Given the description of an element on the screen output the (x, y) to click on. 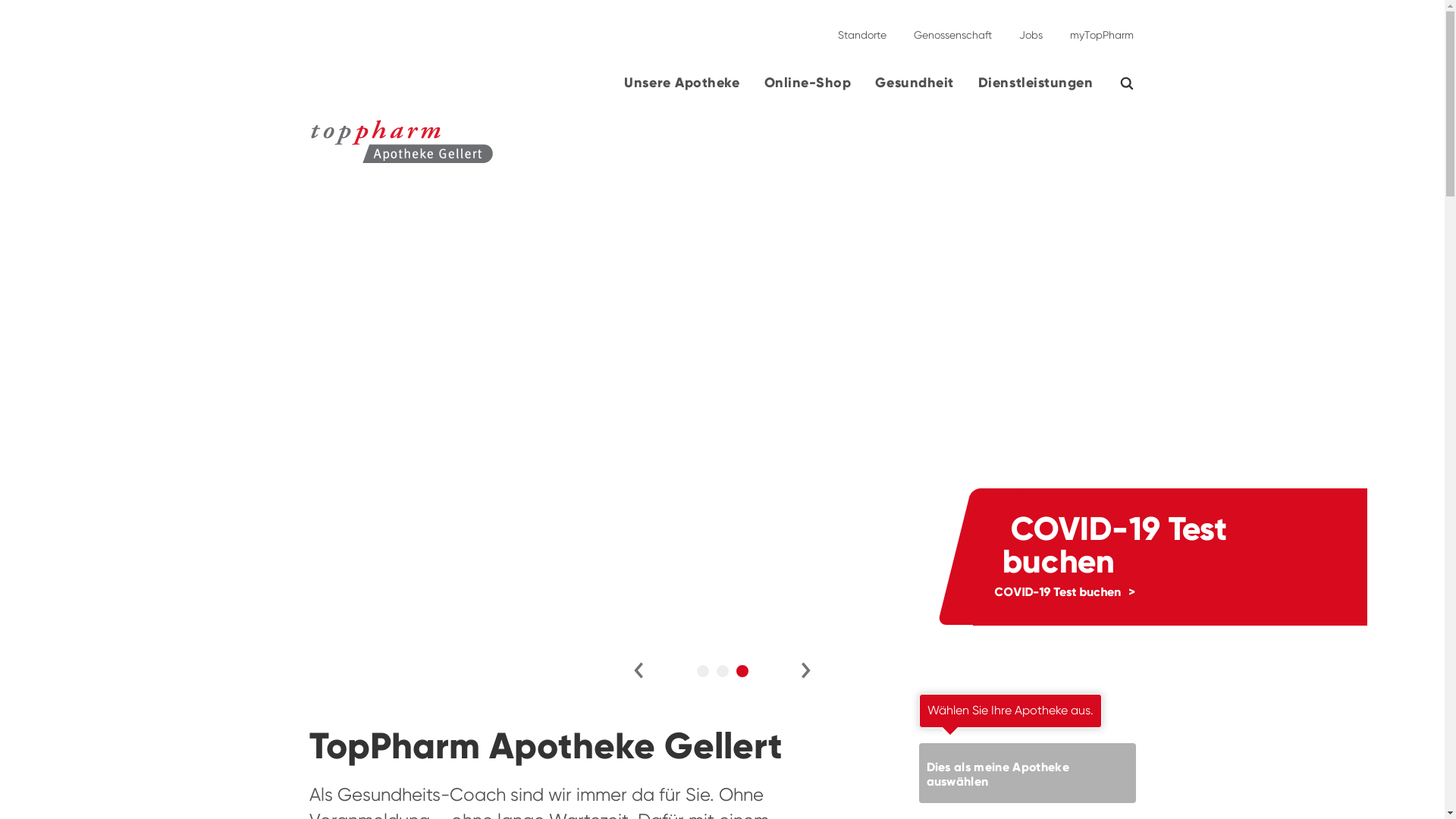
TopPharm Apotheke Gellert - Basel Element type: hover (401, 141)
Genossenschaft Element type: text (951, 29)
Suche Element type: text (1135, 82)
myTopPharm Element type: text (1096, 29)
Unsere Apotheke Element type: text (681, 88)
Dienstleistungen Element type: text (1035, 88)
Online-Shop Element type: text (807, 88)
Jobs Element type: text (1030, 29)
Standorte Element type: text (861, 29)
Gesundheit Element type: text (913, 88)
COVID-19 Test buchen
COVID-19 Test buchen> Element type: text (721, 383)
TopPharm Apotheke Gellert - Basel Element type: text (247, 151)
